Given the description of an element on the screen output the (x, y) to click on. 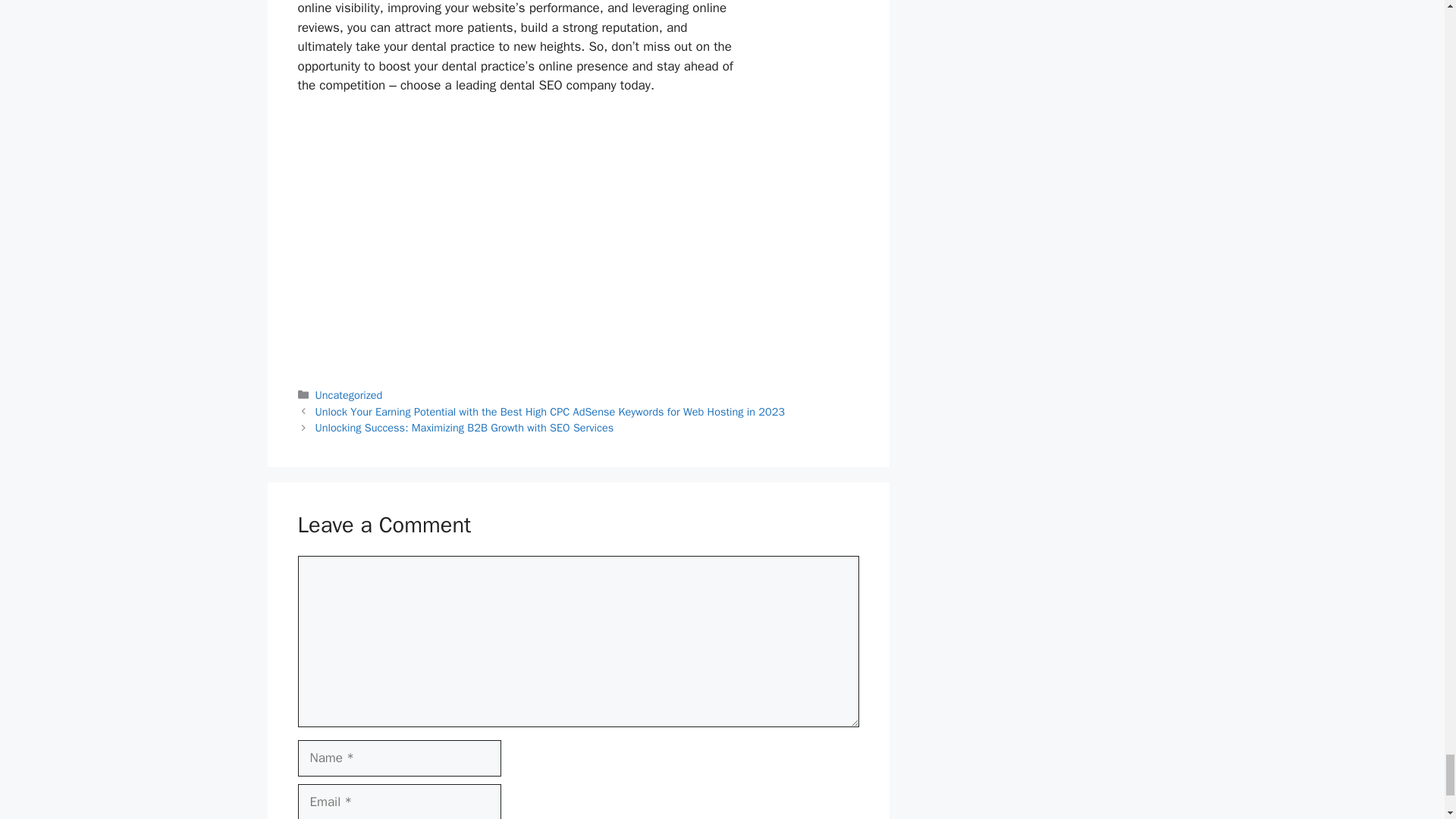
Uncategorized (348, 395)
Unlocking Success: Maximizing B2B Growth with SEO Services (464, 427)
